Given the description of an element on the screen output the (x, y) to click on. 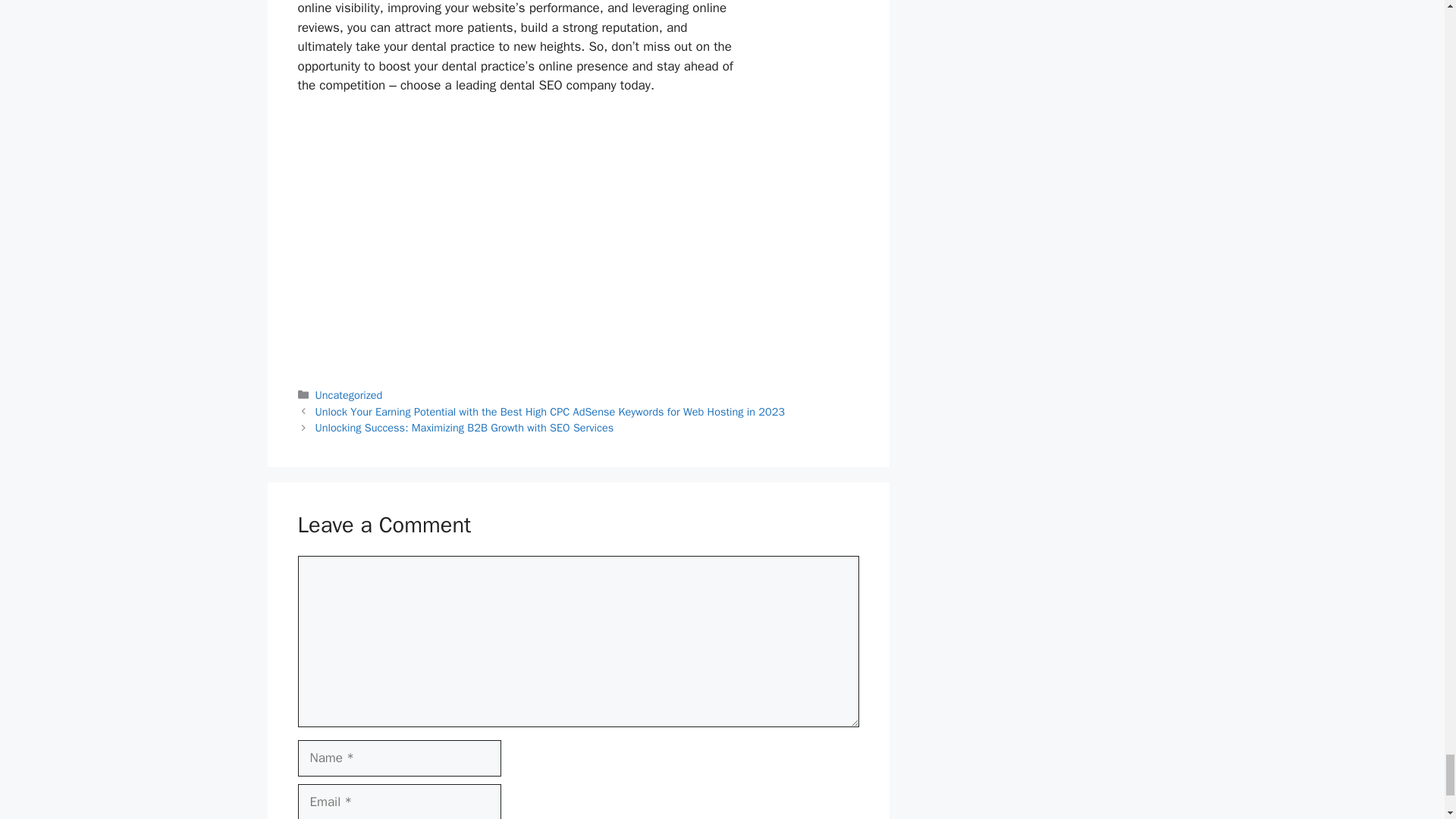
Uncategorized (348, 395)
Unlocking Success: Maximizing B2B Growth with SEO Services (464, 427)
